Given the description of an element on the screen output the (x, y) to click on. 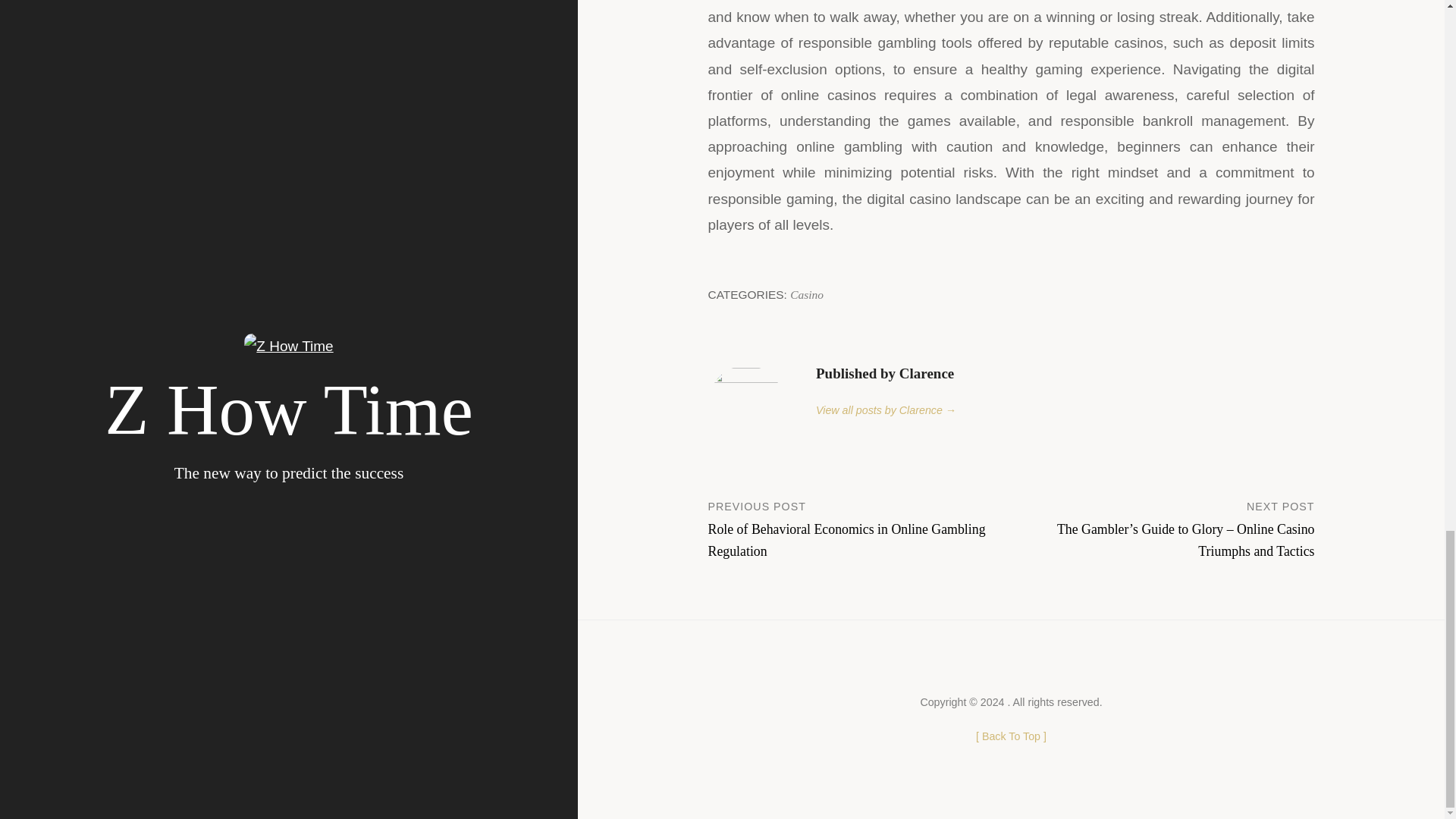
Back To Top (1010, 736)
Casino (807, 294)
